Given the description of an element on the screen output the (x, y) to click on. 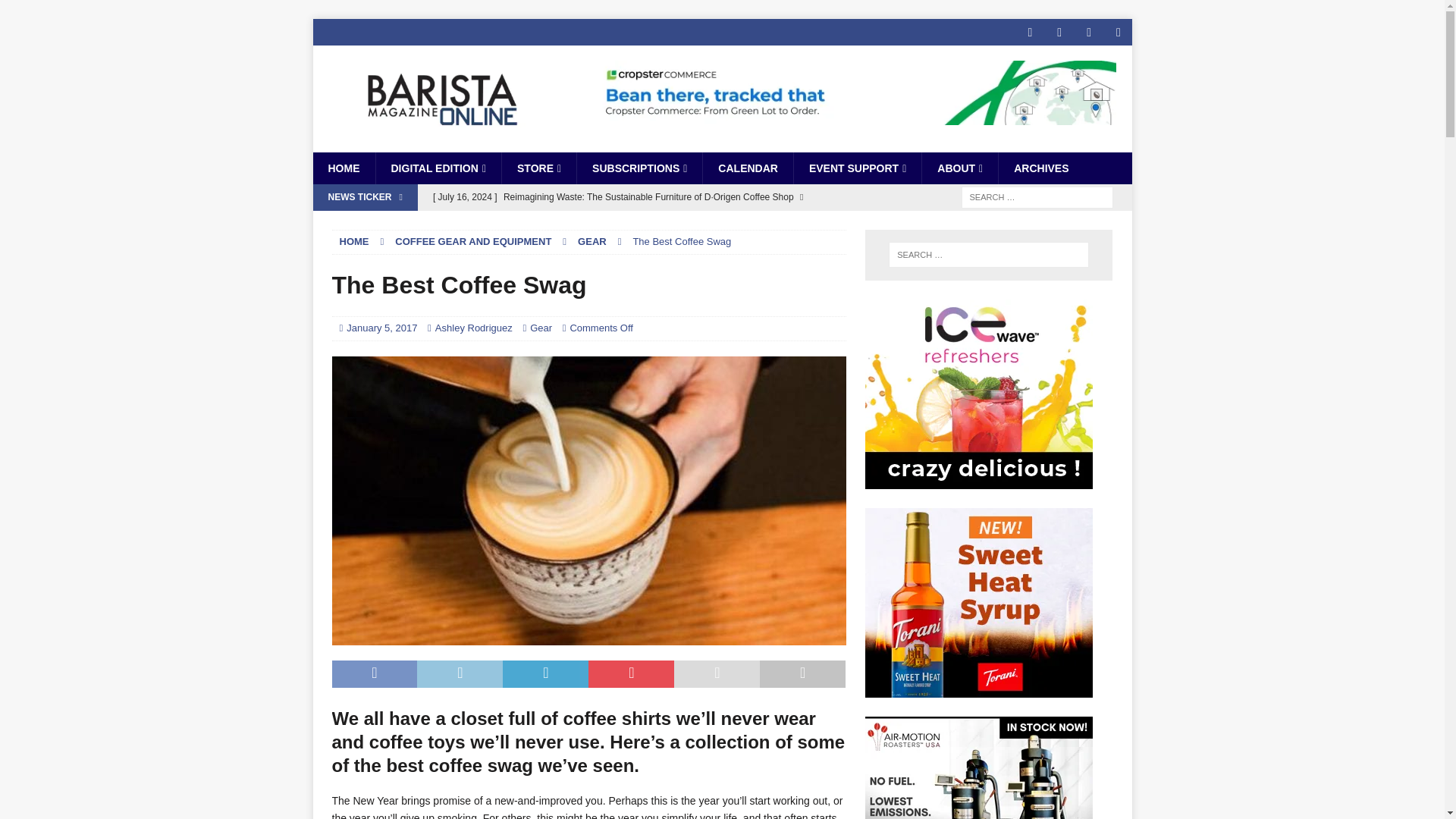
DIGITAL EDITION (437, 168)
HOME (343, 168)
